Given the description of an element on the screen output the (x, y) to click on. 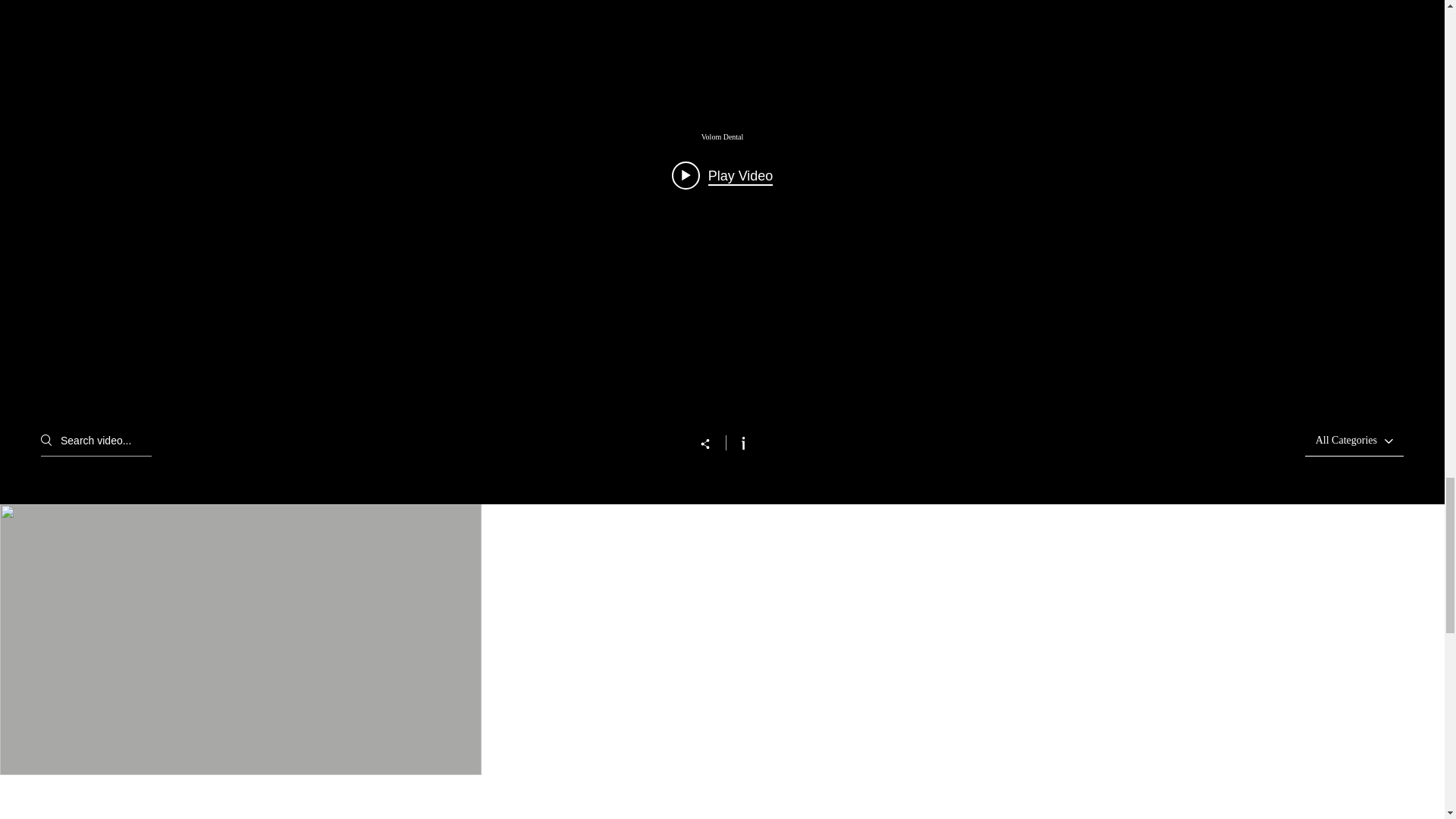
Volom Dental (721, 136)
All Categories (1346, 440)
